Given the description of an element on the screen output the (x, y) to click on. 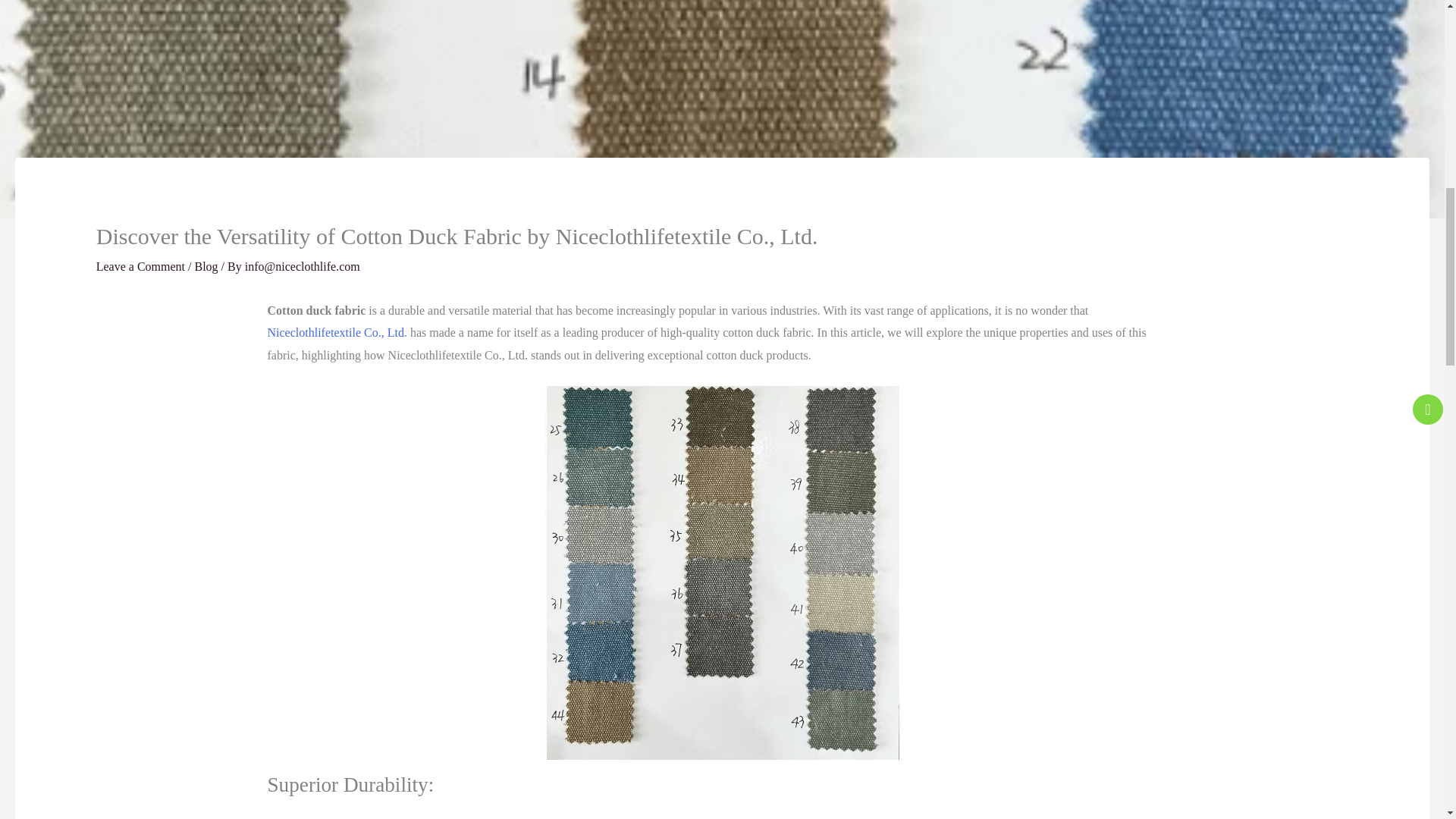
Blog (204, 265)
Leave a Comment (140, 265)
Niceclothlifetextile Co., Ltd (334, 332)
